Given the description of an element on the screen output the (x, y) to click on. 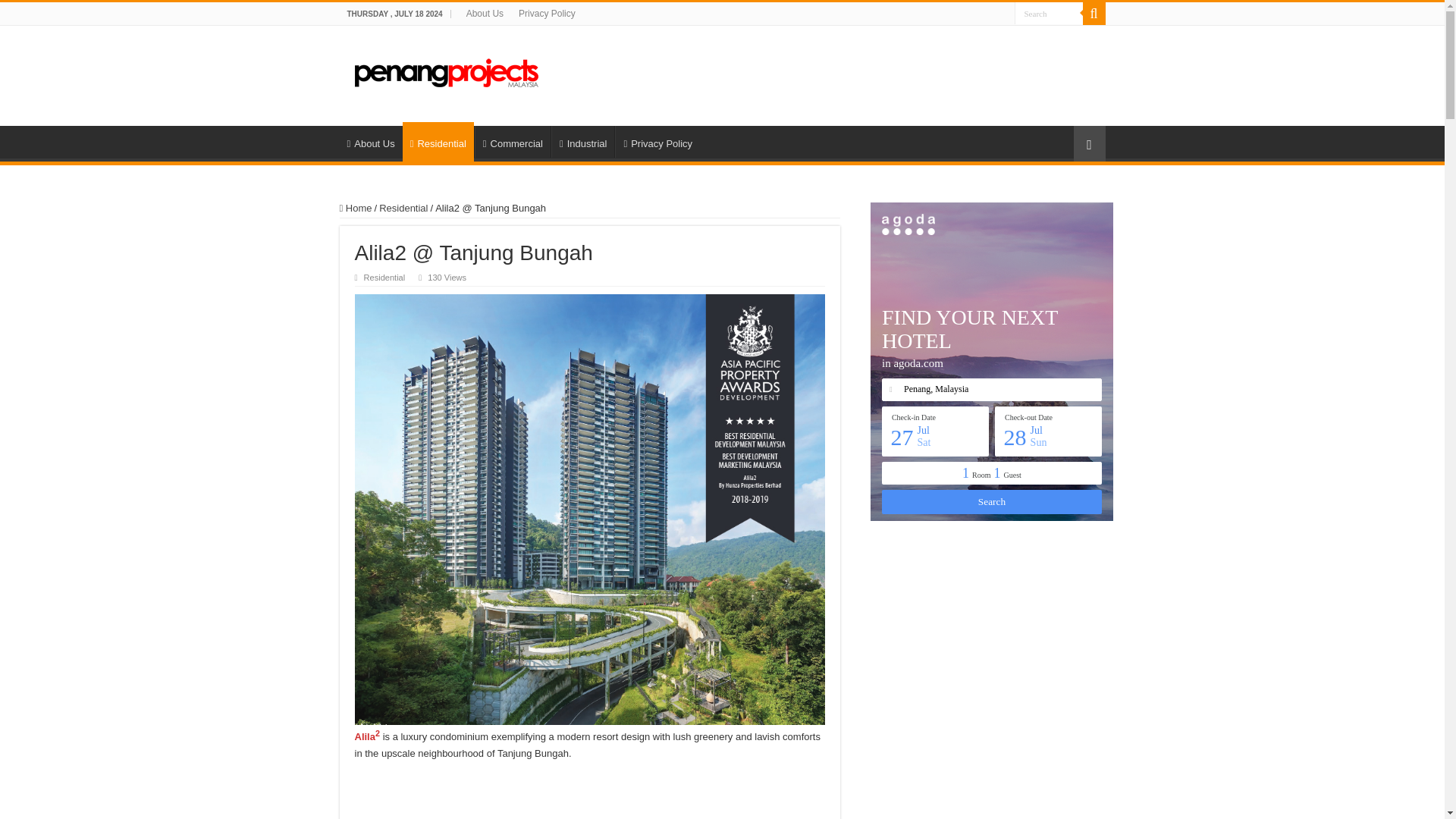
Search (1094, 13)
Industrial (582, 142)
Residential (403, 207)
Privacy Policy (547, 13)
About Us (484, 13)
About Us (371, 142)
Search (1048, 13)
Search (1048, 13)
Search (1048, 13)
Home (355, 207)
Privacy Policy (657, 142)
Residential (438, 141)
Residential (385, 276)
Commercial (512, 142)
